Given the description of an element on the screen output the (x, y) to click on. 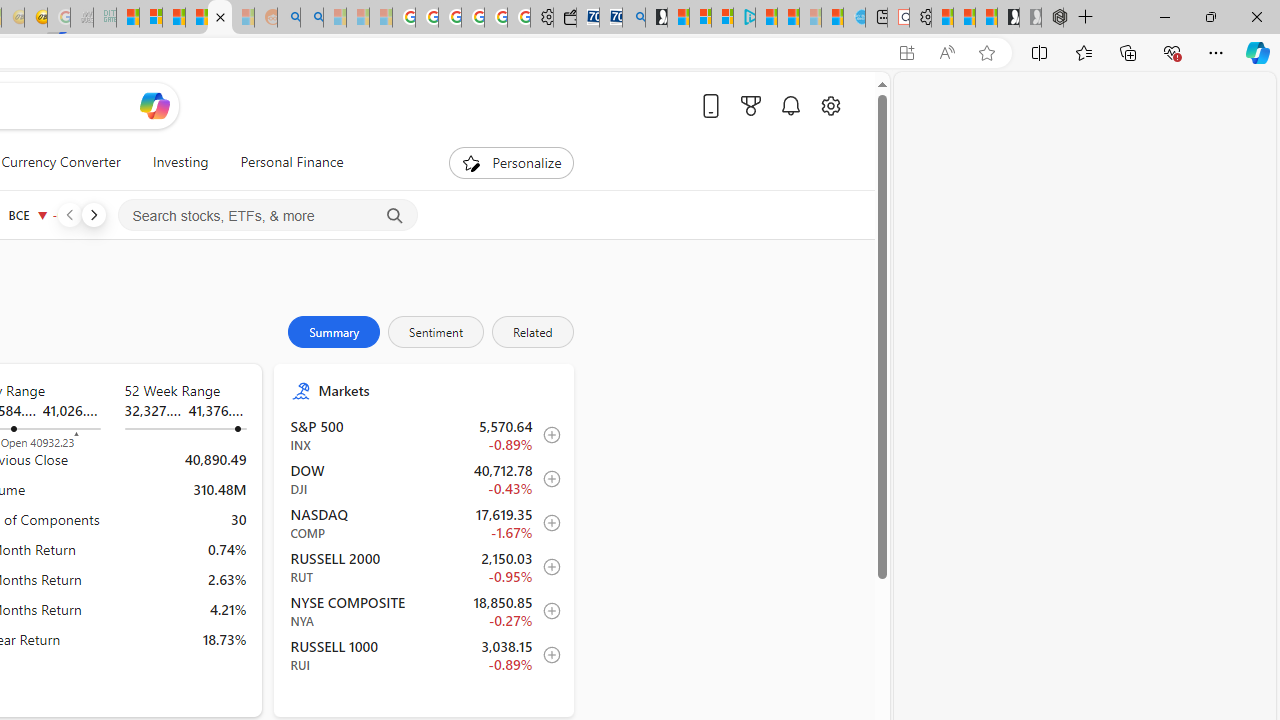
Add to Watchlist (546, 655)
Next (93, 214)
Related (532, 331)
Personal Finance (292, 162)
COMP NASDAQ decrease 17,619.35 -299.63 -1.67% itemundefined (423, 523)
Wallet (564, 17)
App available. Install Start Money (906, 53)
